Given the description of an element on the screen output the (x, y) to click on. 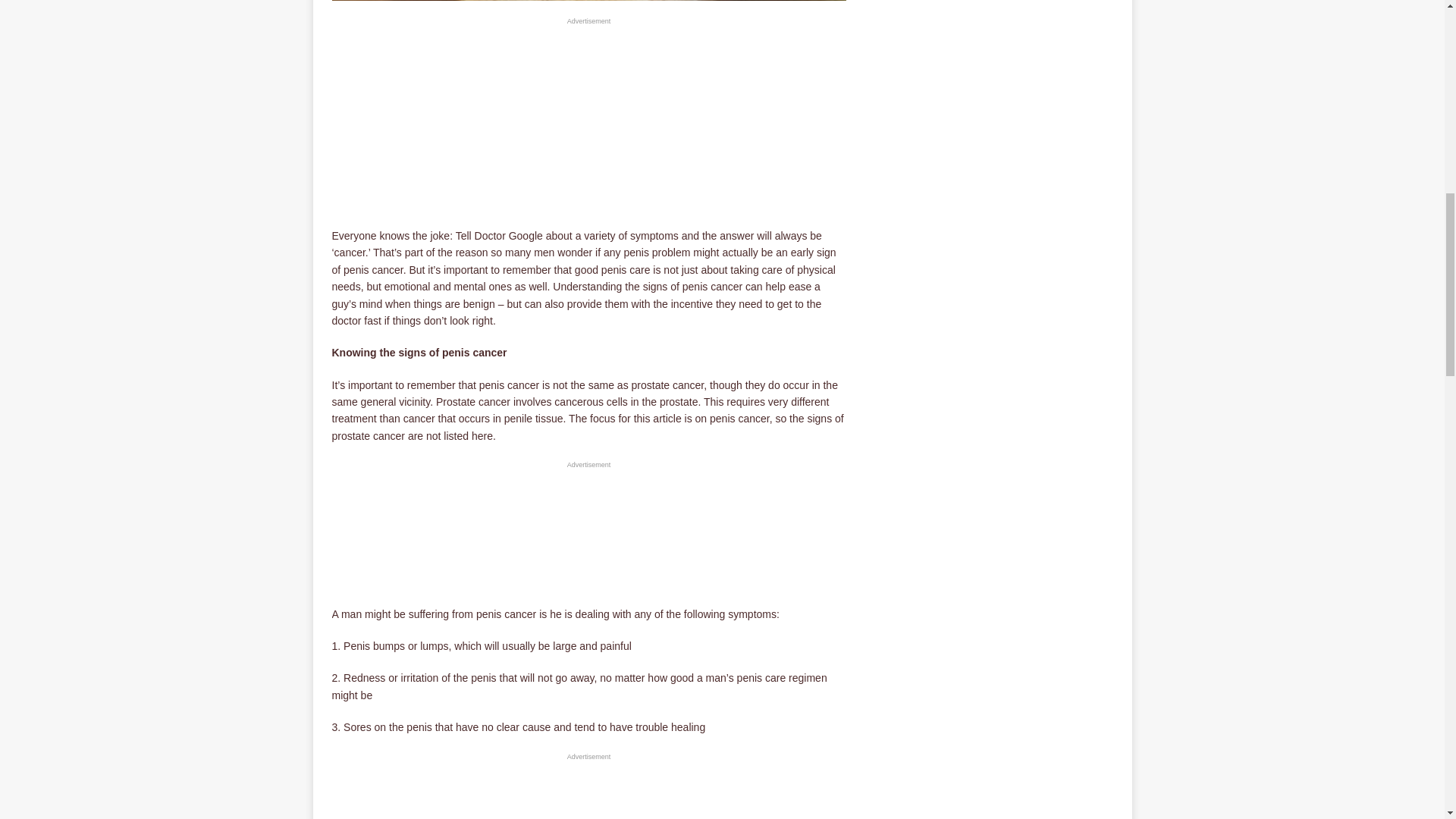
Advertisement (589, 122)
Advertisement (589, 790)
Advertisement (588, 534)
